Given the description of an element on the screen output the (x, y) to click on. 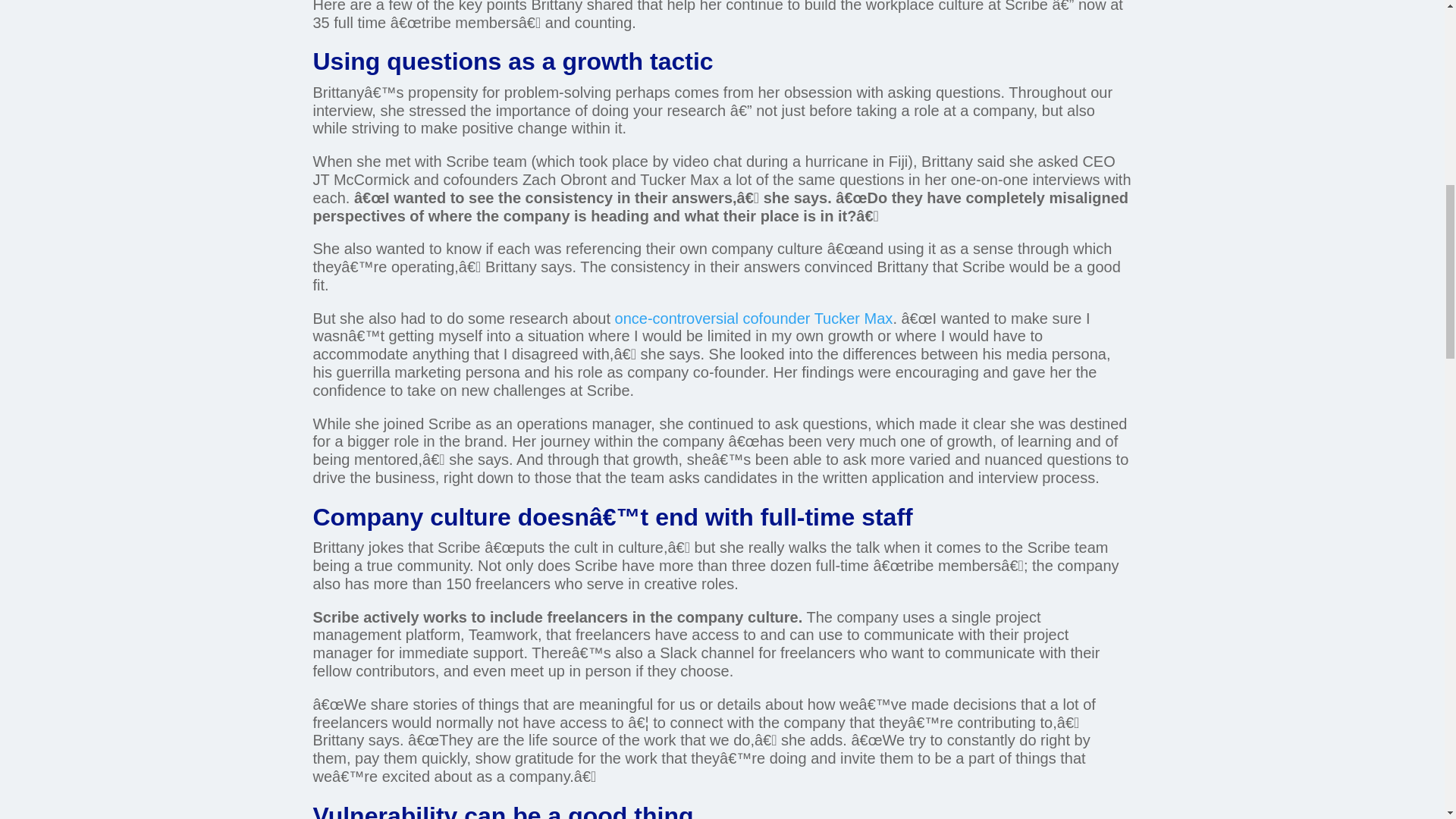
once-controversial cofounder Tucker Max (753, 318)
